Given the description of an element on the screen output the (x, y) to click on. 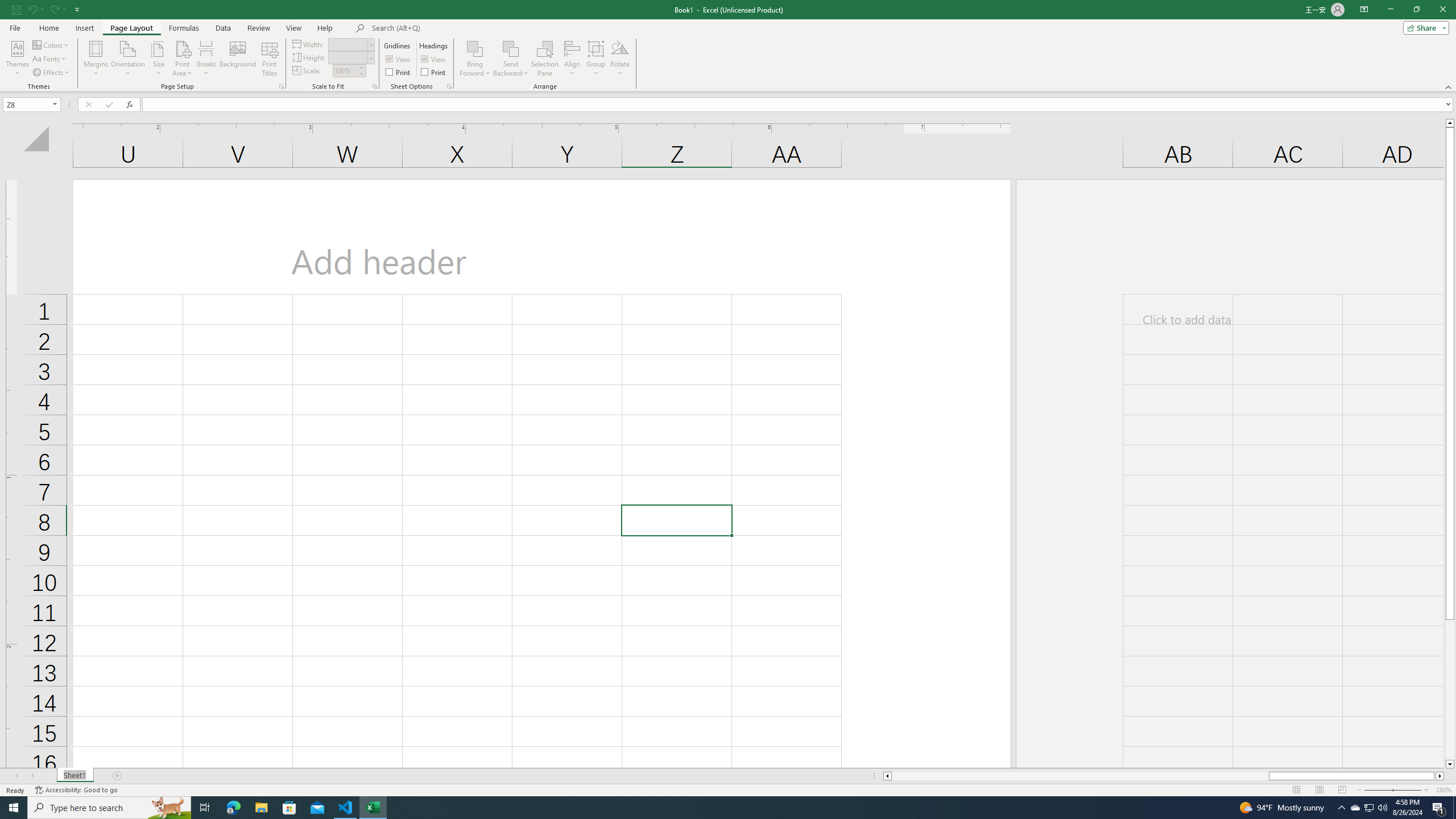
View (434, 58)
Send Backward (510, 48)
More Options (510, 68)
Print Area (182, 58)
System (6, 6)
File Tab (15, 27)
Line up (1449, 122)
Formulas (184, 28)
